Given the description of an element on the screen output the (x, y) to click on. 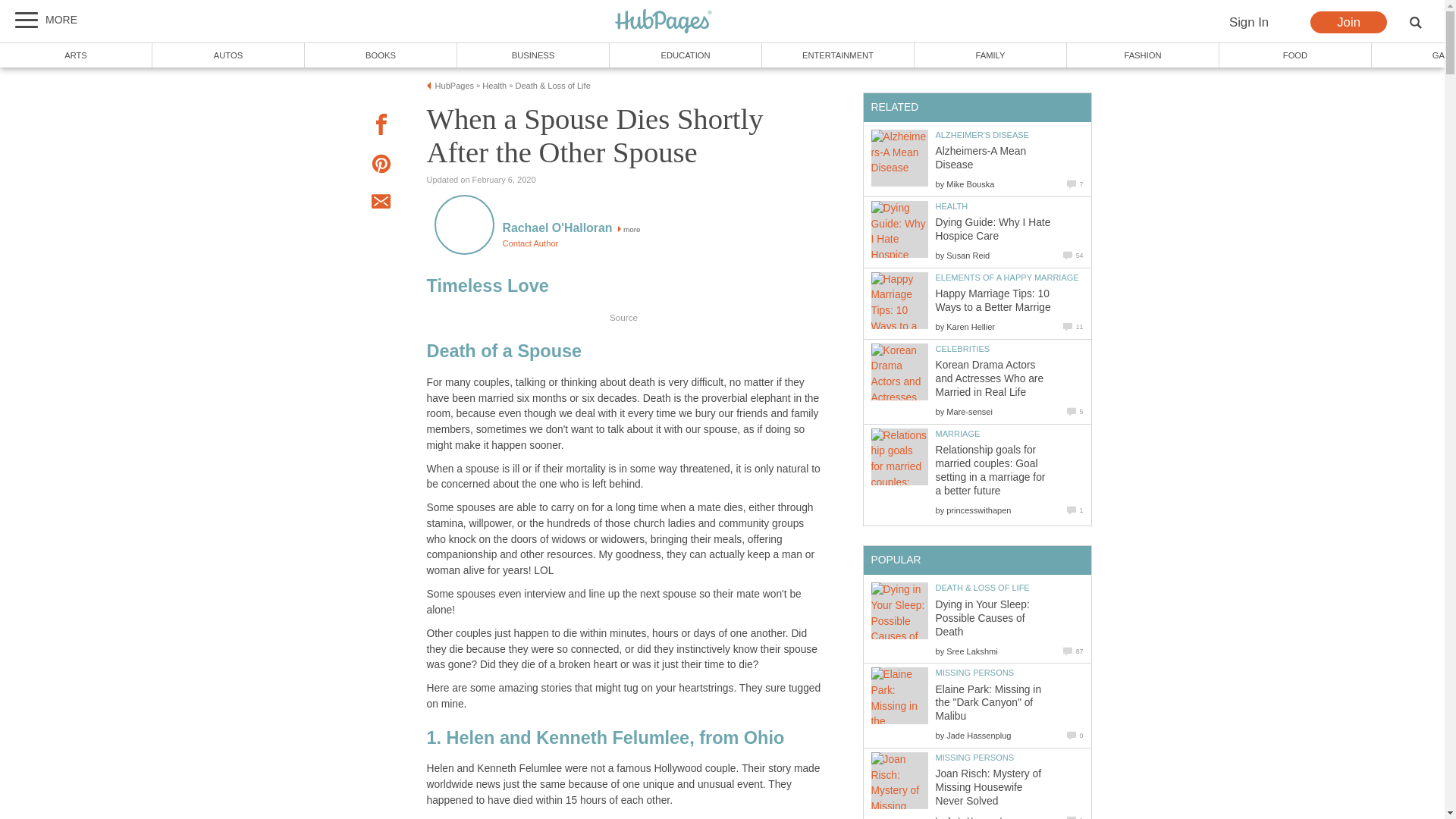
Email (380, 203)
BUSINESS (533, 55)
FOOD (1295, 55)
ENTERTAINMENT (837, 55)
ARTS (76, 55)
FAMILY (990, 55)
HubPages (663, 22)
EDUCATION (685, 55)
FASHION (1143, 55)
Join (1348, 22)
